Given the description of an element on the screen output the (x, y) to click on. 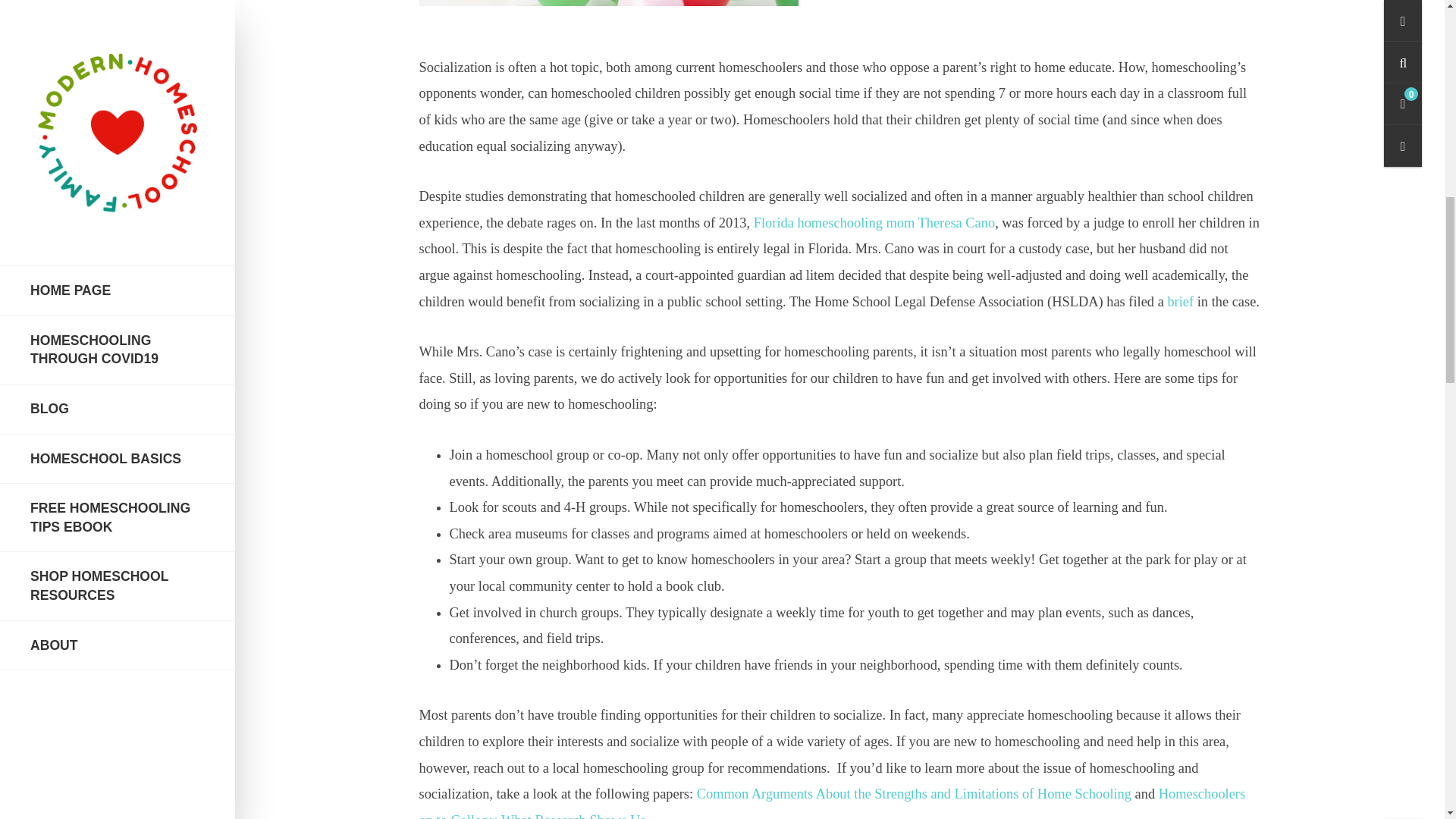
brief (1180, 301)
Homeschoolers on to College: What Research Shows Us (831, 802)
Florida homeschooling mom Theresa Cano (874, 222)
